Given the description of an element on the screen output the (x, y) to click on. 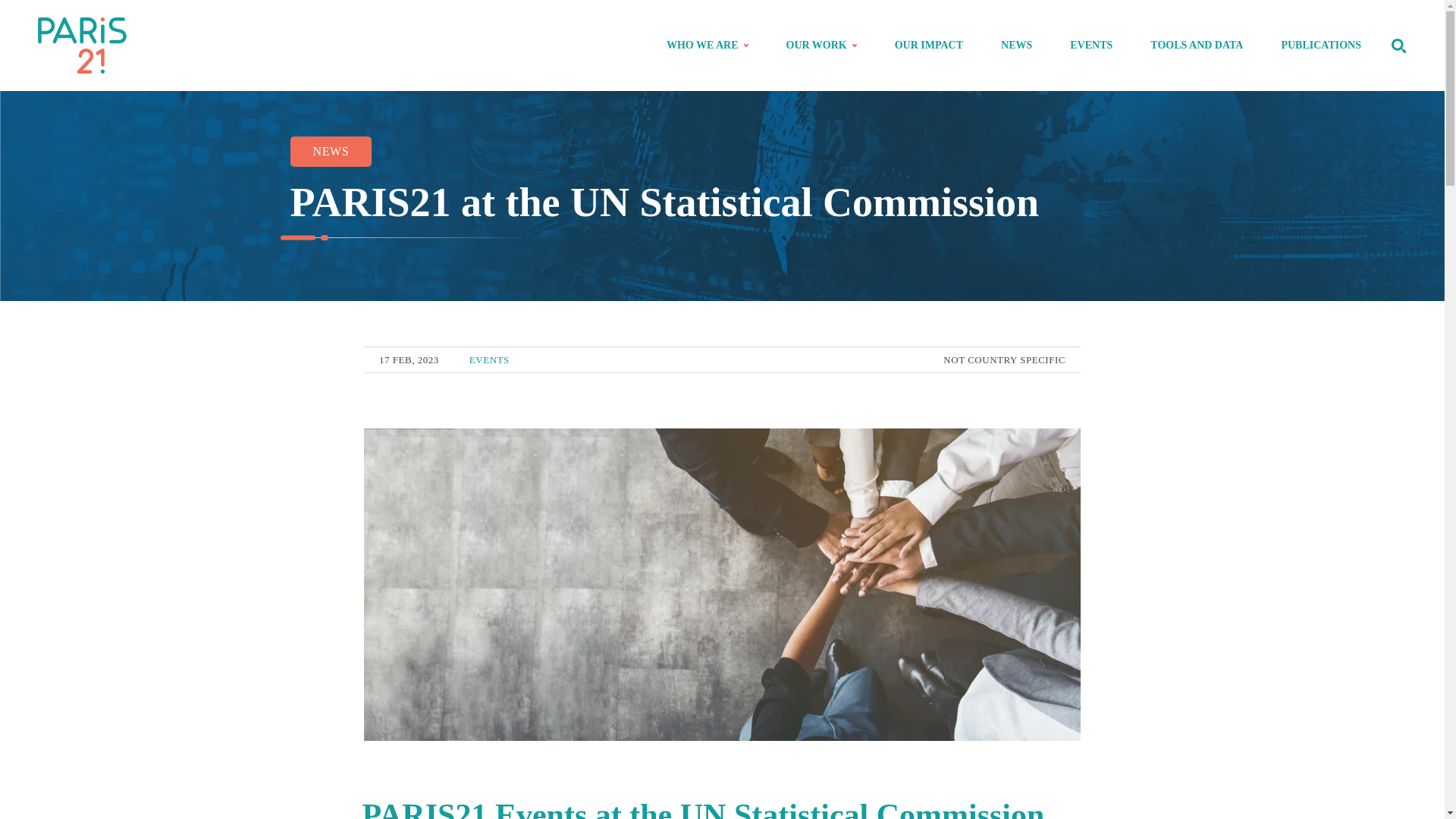
NEWS (330, 151)
TOOLS AND DATA (1196, 45)
Search (1398, 45)
Search (1305, 123)
PUBLICATIONS (1321, 45)
NEWS (1016, 45)
OUR IMPACT (928, 45)
EVENTS (1091, 45)
